Given the description of an element on the screen output the (x, y) to click on. 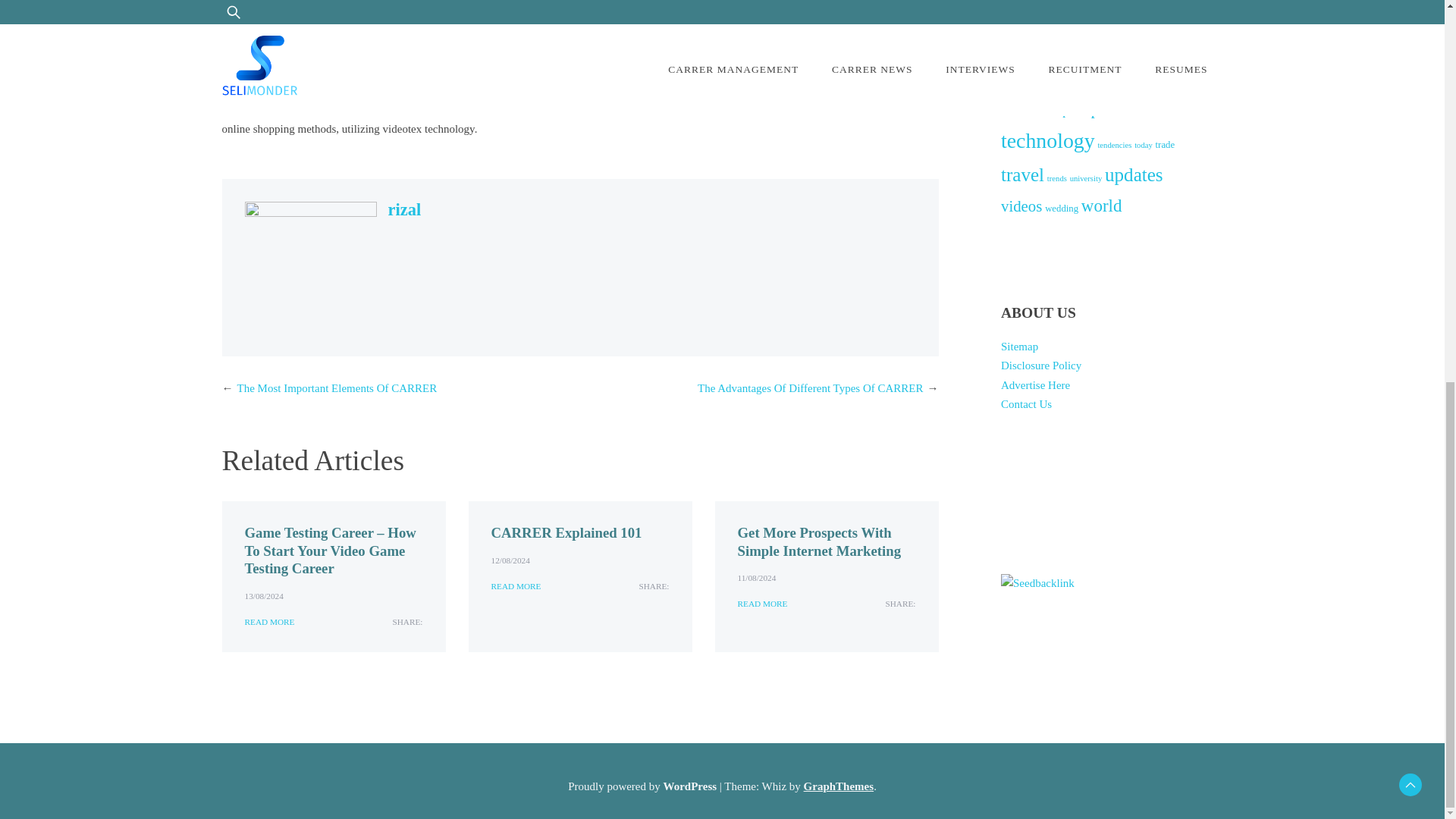
rizal (405, 209)
The Most Important Elements Of CARRER (335, 387)
CARRER Explained 101 (567, 532)
Get More Prospects With Simple Internet Marketing (818, 540)
The Advantages Of Different Types Of CARRER (810, 387)
READ MORE (269, 622)
Seedbacklink (1037, 583)
READ MORE (516, 586)
READ MORE (761, 603)
